Given the description of an element on the screen output the (x, y) to click on. 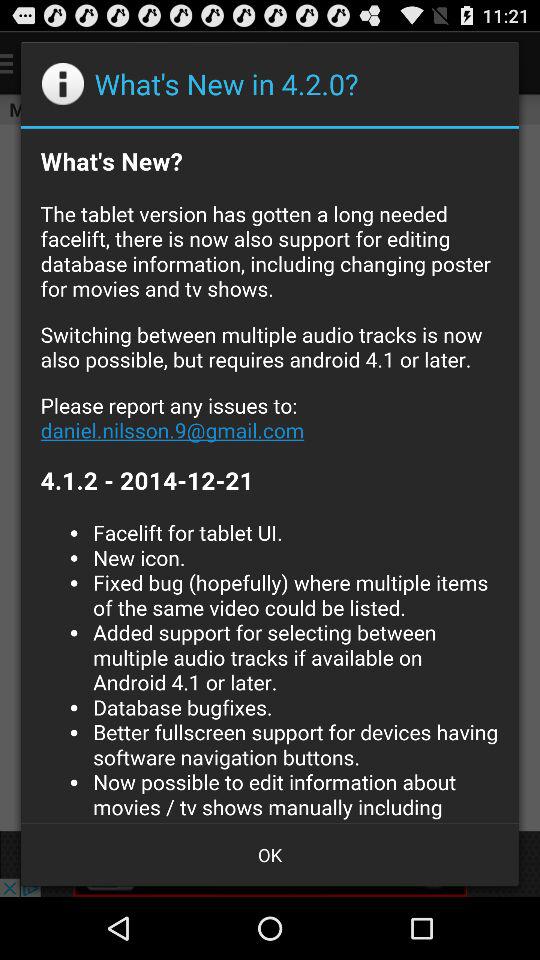
text in paragraph (270, 475)
